Given the description of an element on the screen output the (x, y) to click on. 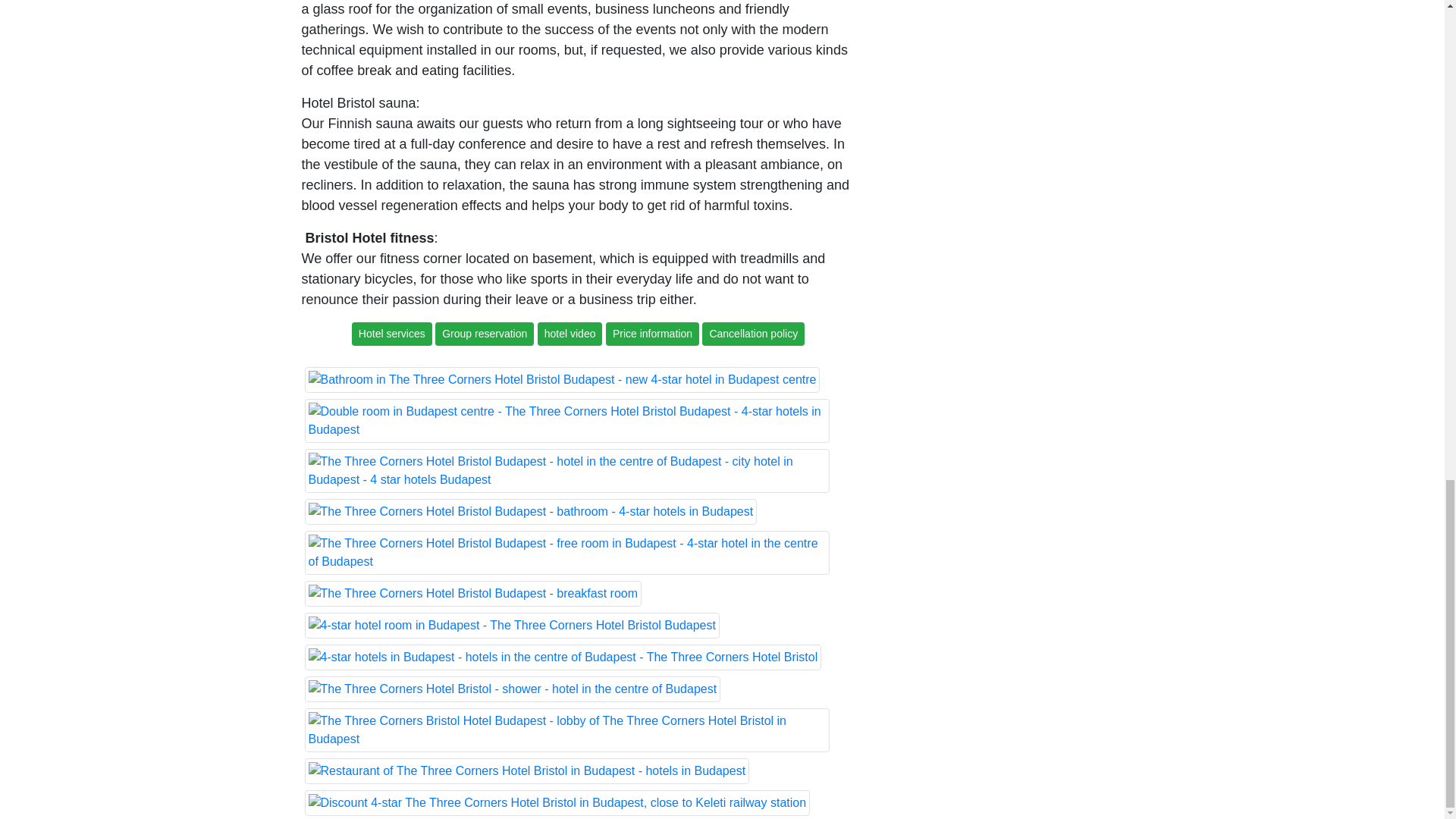
Hotel services (392, 332)
The Three Corners Hotel Bristol Budapest - breakfast room (473, 593)
hotel video (571, 332)
Group reservation (486, 332)
Cancellation policy (753, 332)
